Given the description of an element on the screen output the (x, y) to click on. 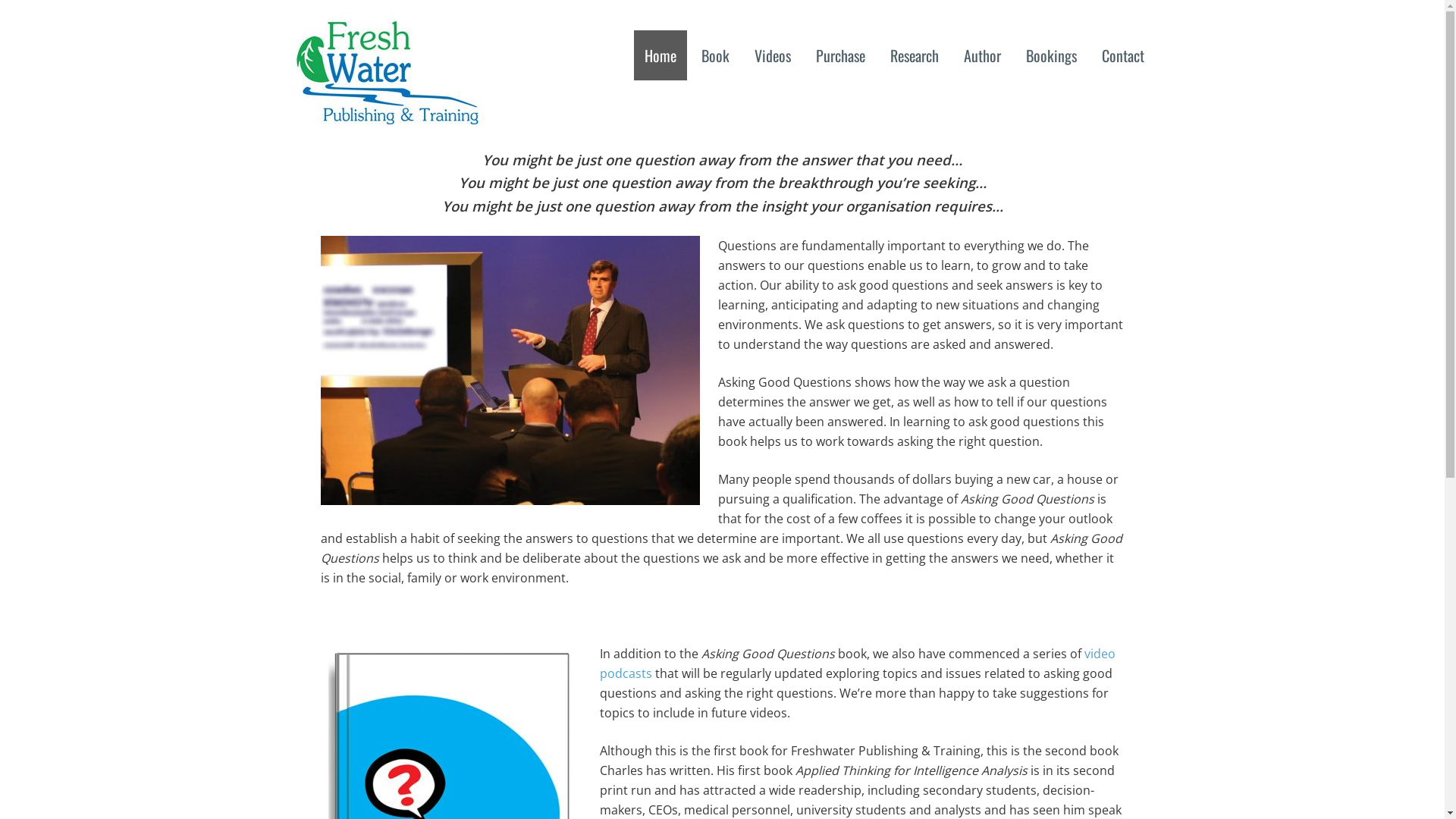
Research Element type: text (914, 55)
Home Element type: text (660, 55)
Contact Element type: text (1122, 55)
Book Element type: text (714, 55)
Bookings Element type: text (1050, 55)
Freshwater Publishing & Training Element type: hover (386, 114)
video podcasts Element type: text (856, 663)
Author Element type: text (981, 55)
Videos Element type: text (771, 55)
Purchase Element type: text (840, 55)
